Given the description of an element on the screen output the (x, y) to click on. 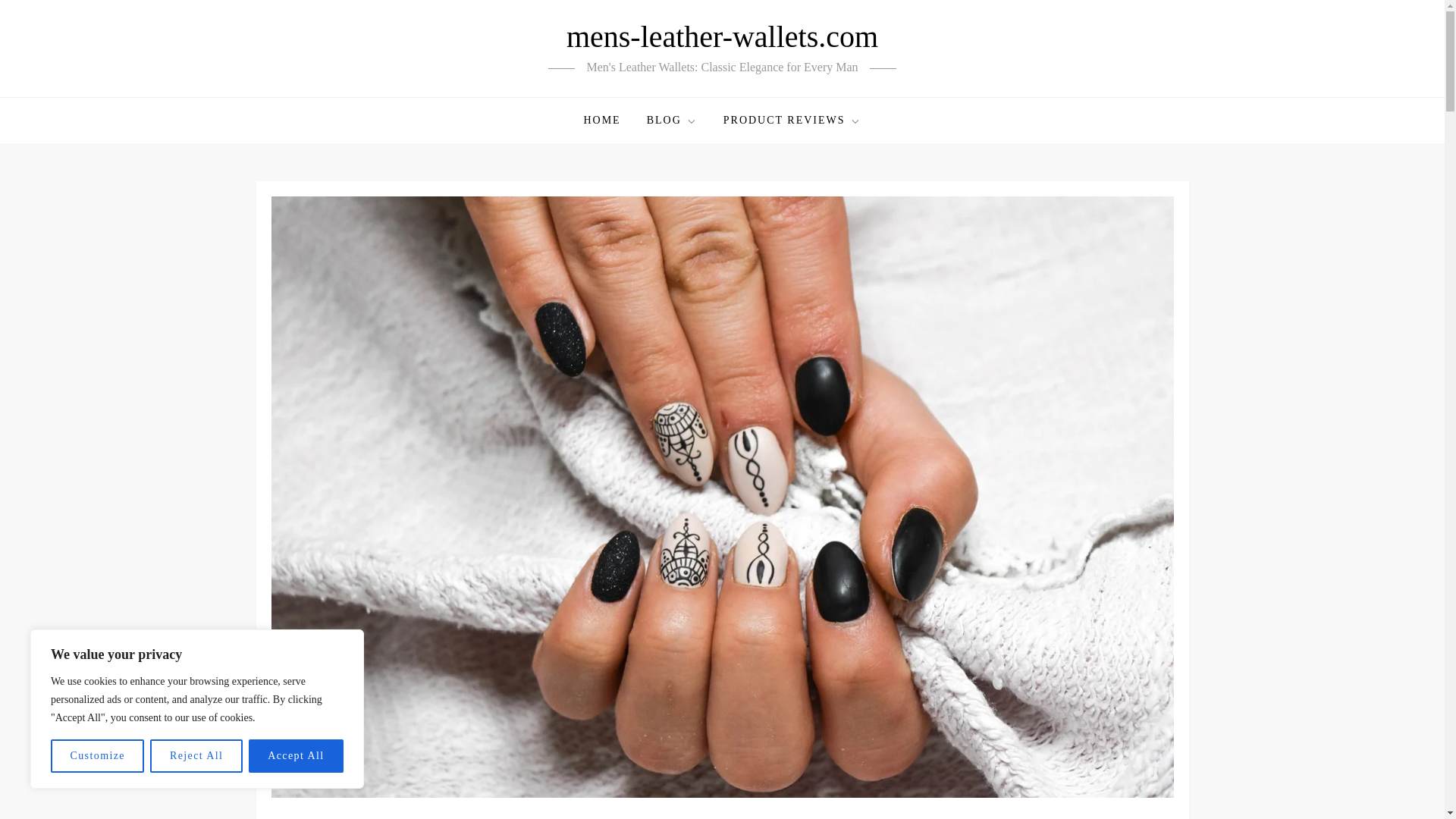
Reject All (195, 756)
Accept All (295, 756)
HOME (601, 120)
mens-leather-wallets.com (721, 36)
BLOG (671, 120)
Customize (97, 756)
PRODUCT REVIEWS (791, 120)
